Given the description of an element on the screen output the (x, y) to click on. 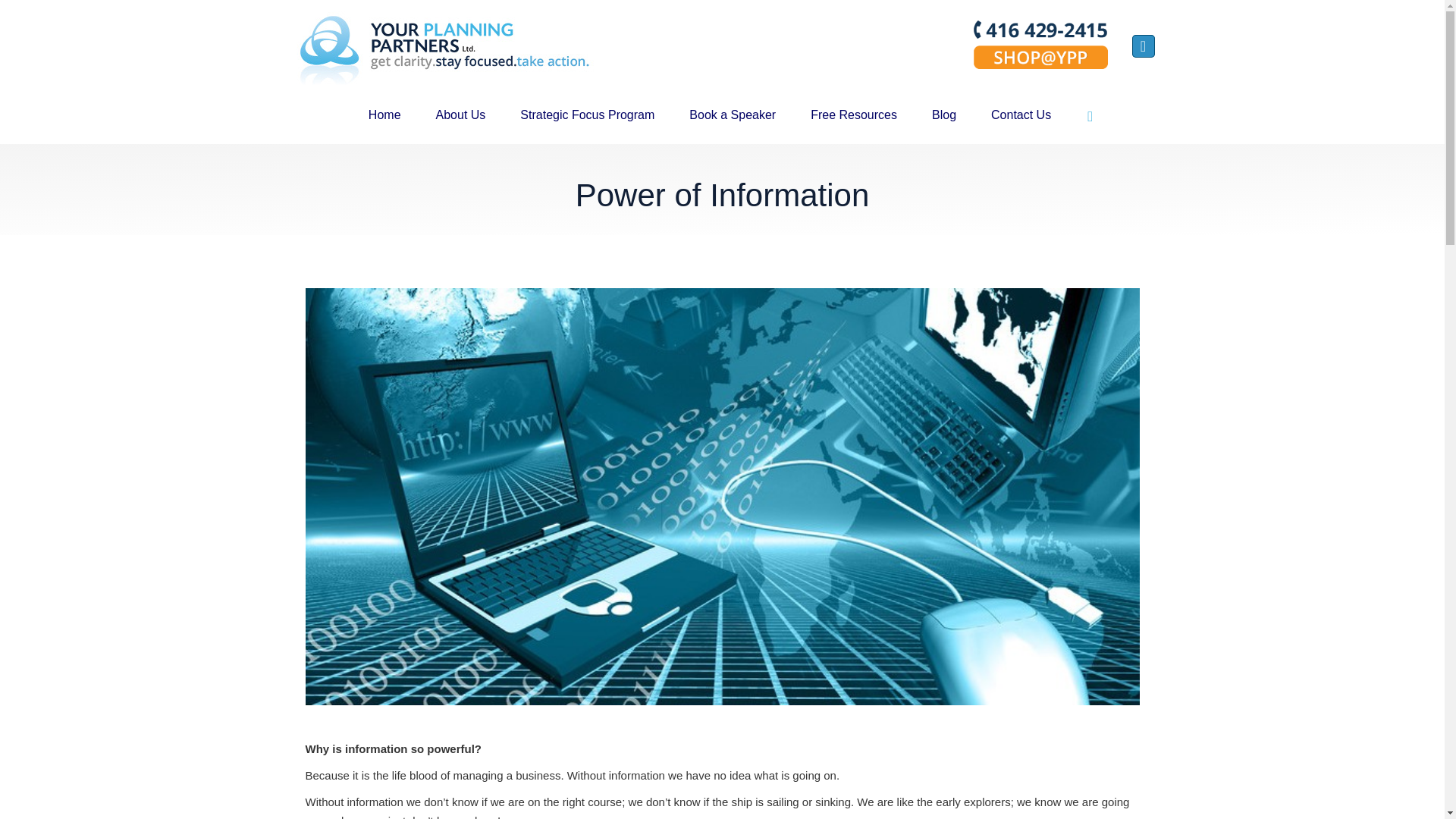
Blog (944, 114)
Home (384, 114)
Linkedin page opens in new window (1142, 46)
Free Resources (853, 114)
About Us (460, 114)
Contact Us (1021, 114)
Strategic Focus Program (587, 114)
Book a Speaker (731, 114)
Free Business Resources (853, 114)
